Given the description of an element on the screen output the (x, y) to click on. 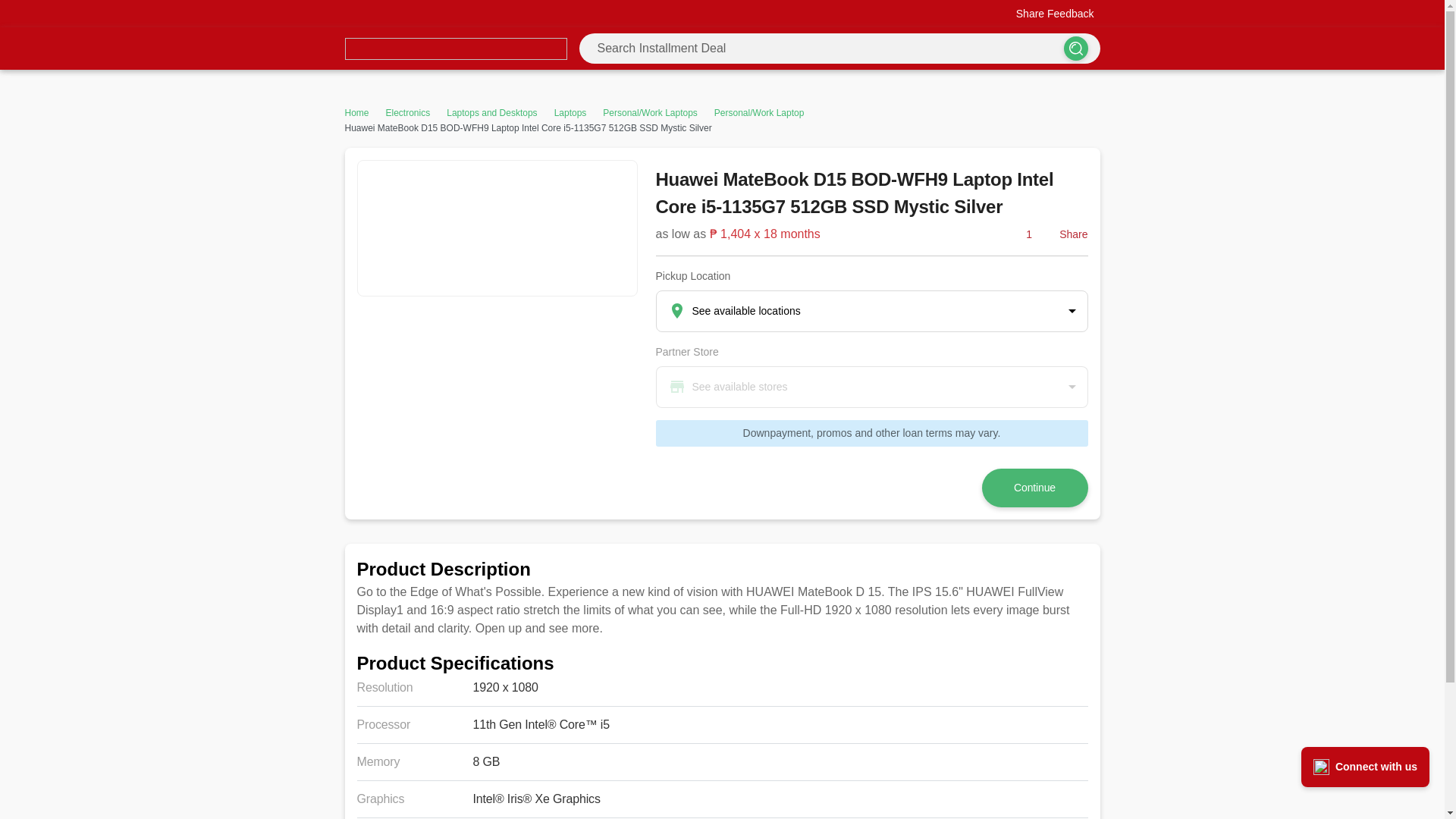
Electronics (407, 112)
Share Feedback (1044, 13)
Laptops and Desktops (491, 112)
Laptops (570, 112)
Continue (1034, 487)
Share (1064, 233)
Home (355, 112)
